Given the description of an element on the screen output the (x, y) to click on. 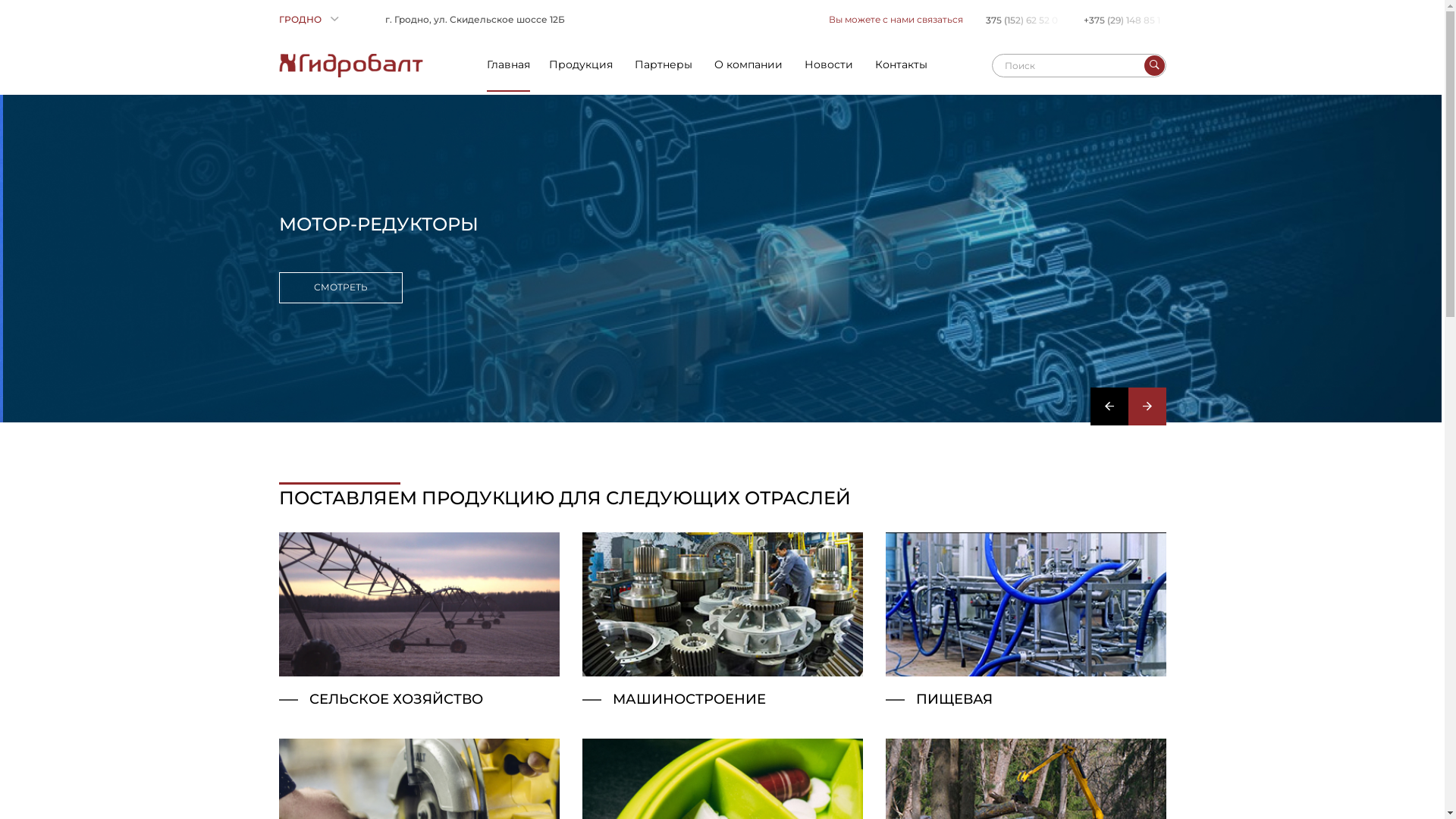
HIDROBALT.BY Element type: hover (351, 65)
375 (152) 62 52 0 Element type: text (1022, 19)
+375 (29) 148 85 1 Element type: text (1123, 19)
